Given the description of an element on the screen output the (x, y) to click on. 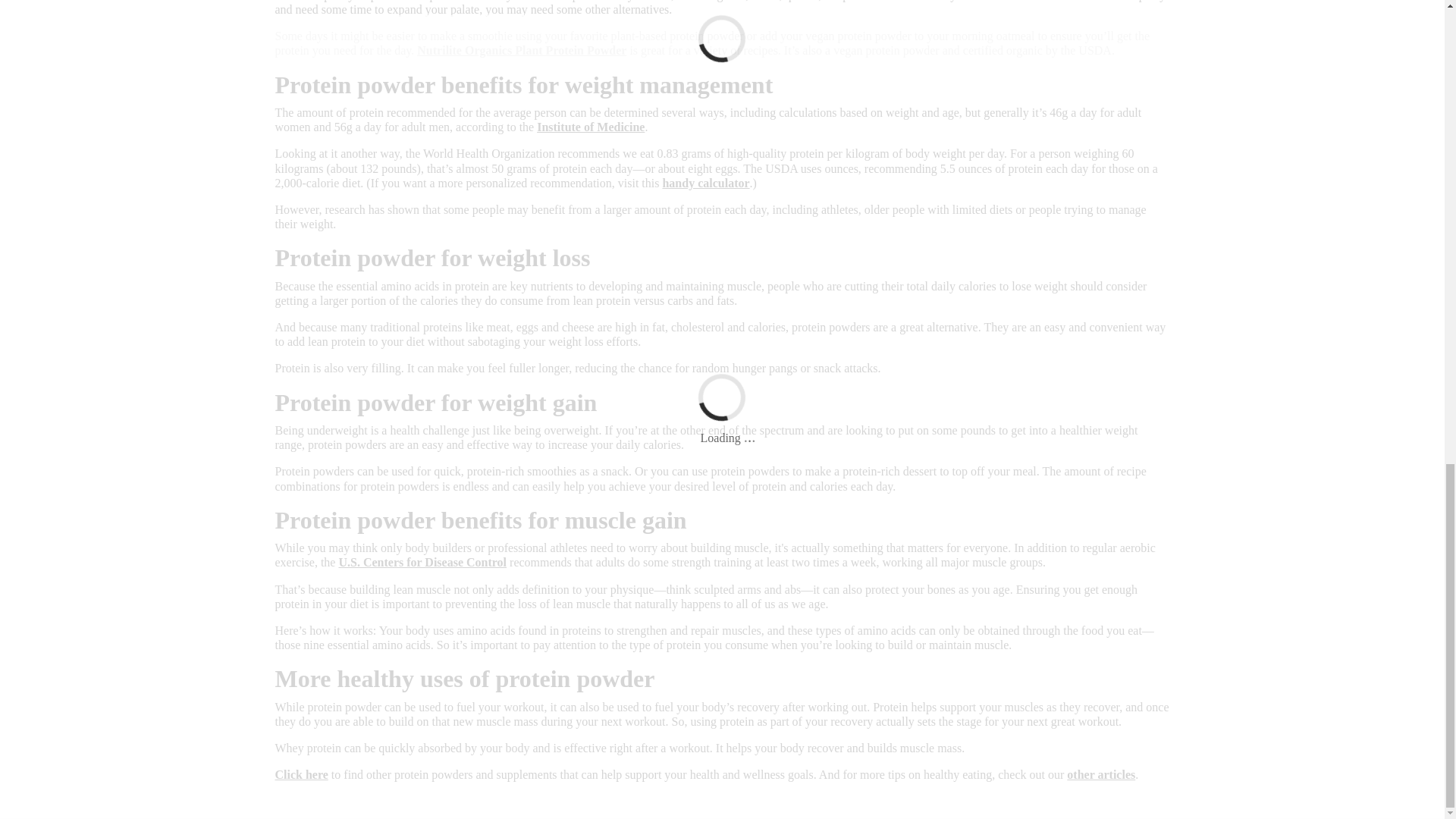
other articles (1101, 774)
Click here (301, 774)
U.S. Centers for Disease Control (421, 562)
Institute of Medicine (591, 126)
Nutrilite Organics Plant Protein Powder (521, 50)
handy calculator (705, 182)
